Given the description of an element on the screen output the (x, y) to click on. 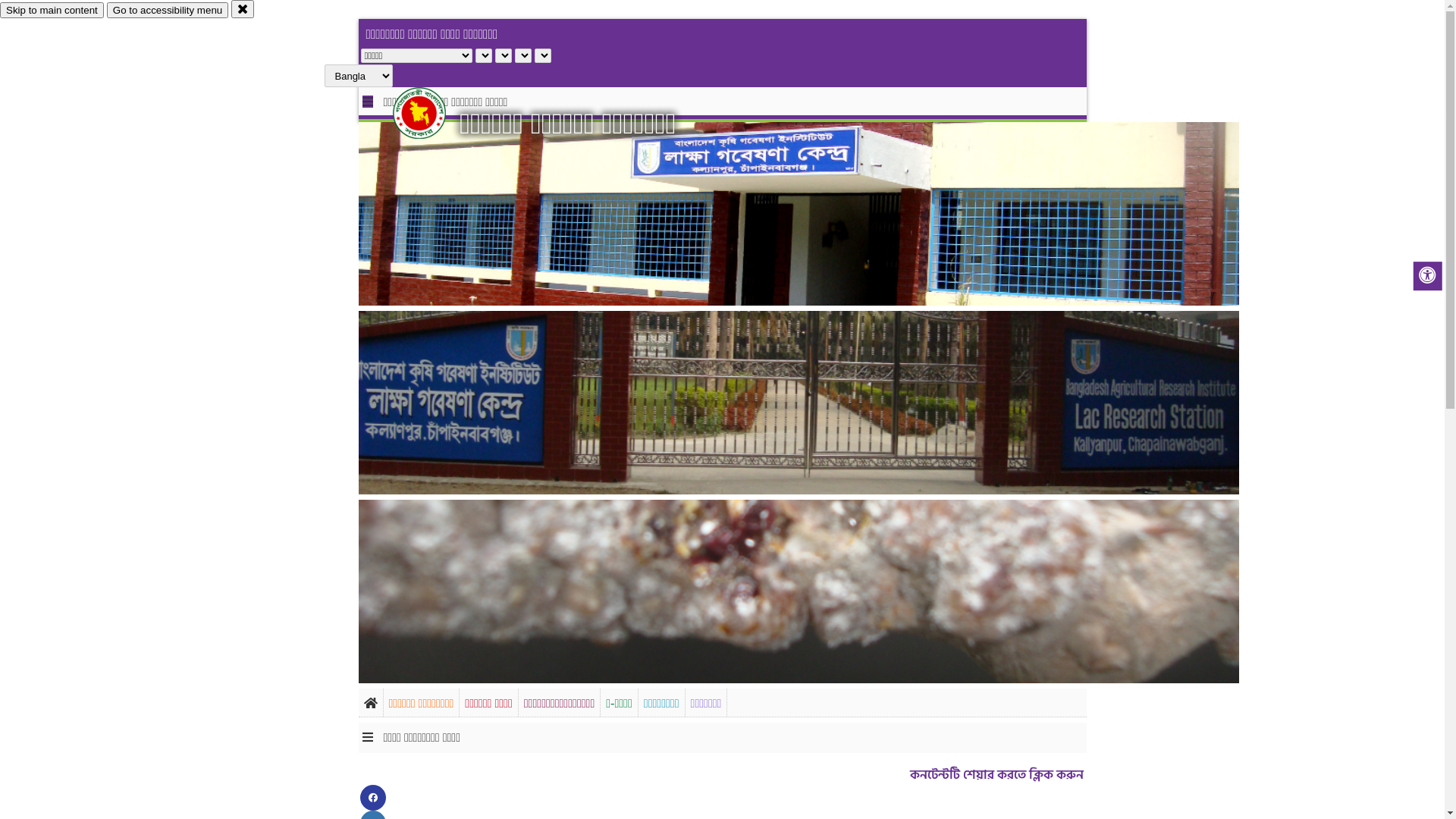

                
             Element type: hover (431, 112)
Go to accessibility menu Element type: text (167, 10)
Skip to main content Element type: text (51, 10)
close Element type: hover (242, 9)
